Given the description of an element on the screen output the (x, y) to click on. 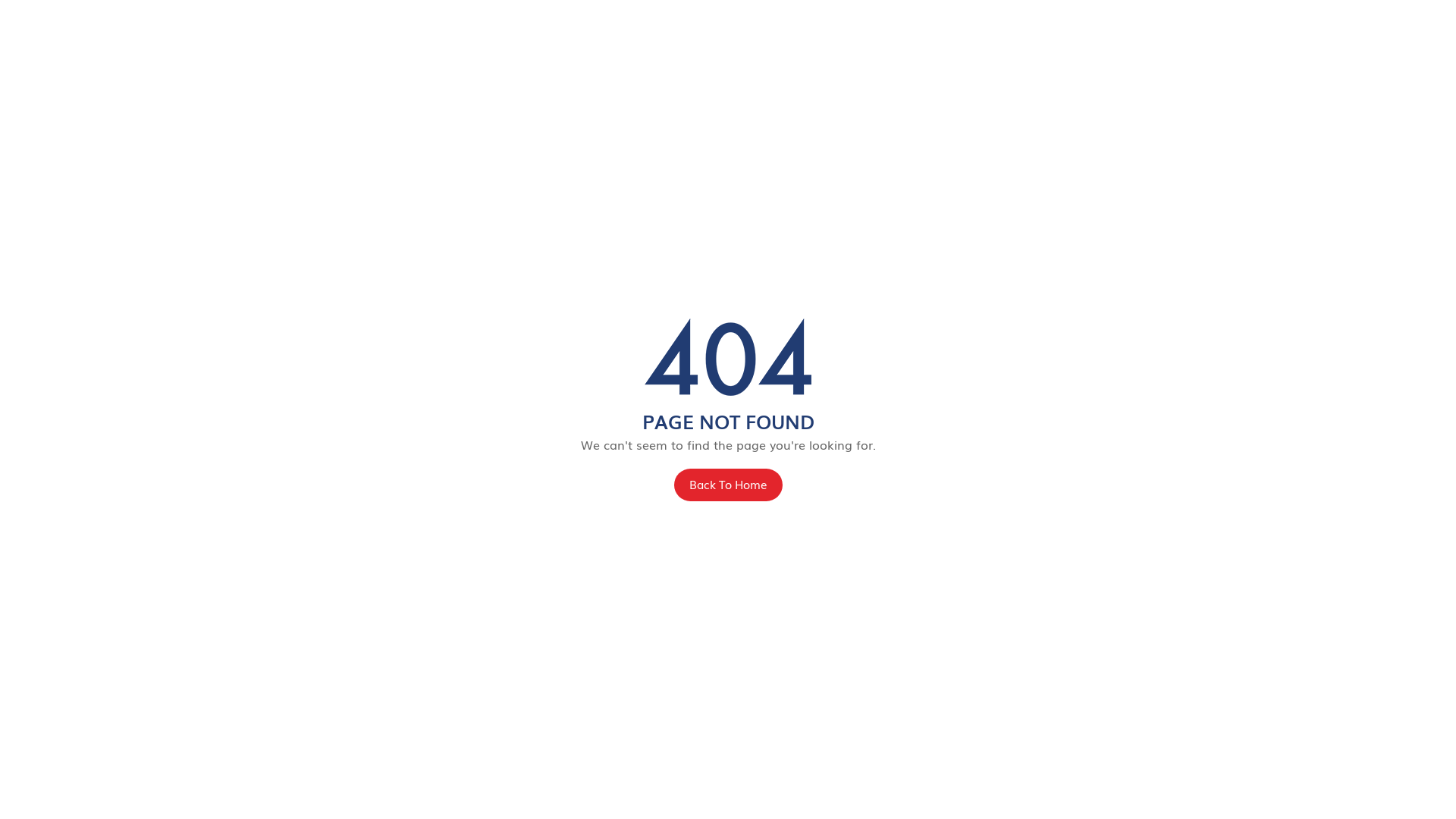
Back To Home Element type: text (727, 484)
